Given the description of an element on the screen output the (x, y) to click on. 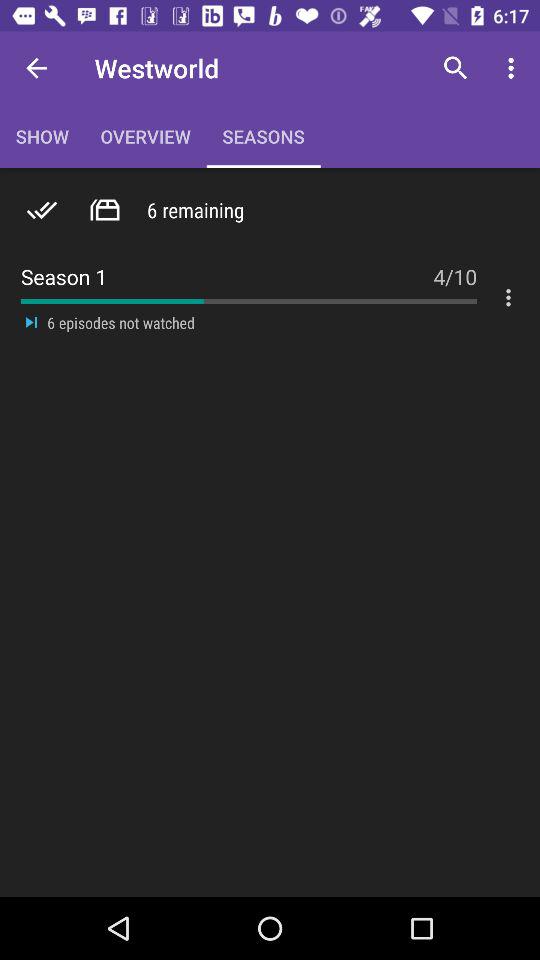
turn off the icon next to the seasons (455, 67)
